Given the description of an element on the screen output the (x, y) to click on. 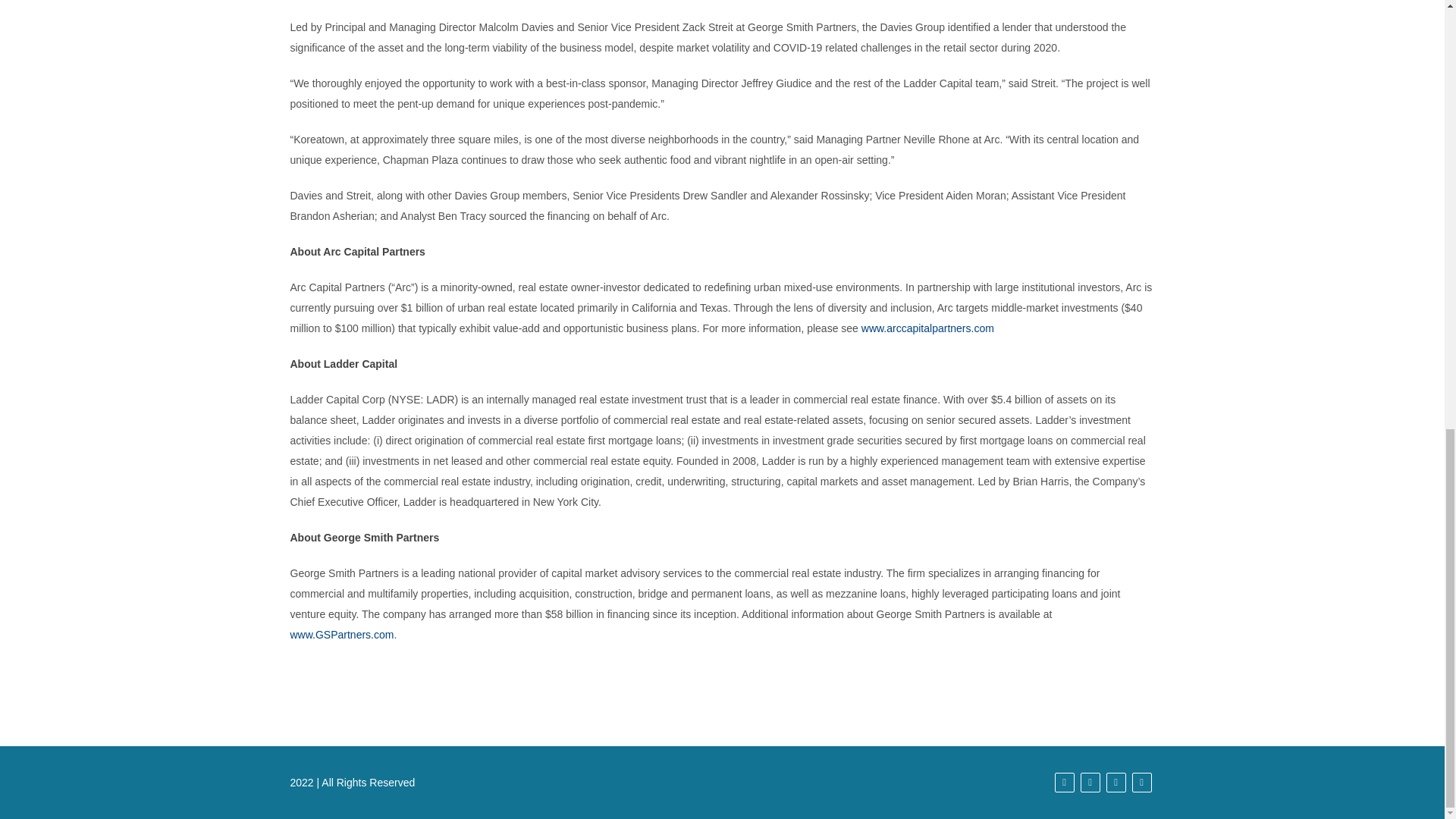
www.arccapitalpartners.com (927, 328)
www.GSPartners.com (341, 634)
